Given the description of an element on the screen output the (x, y) to click on. 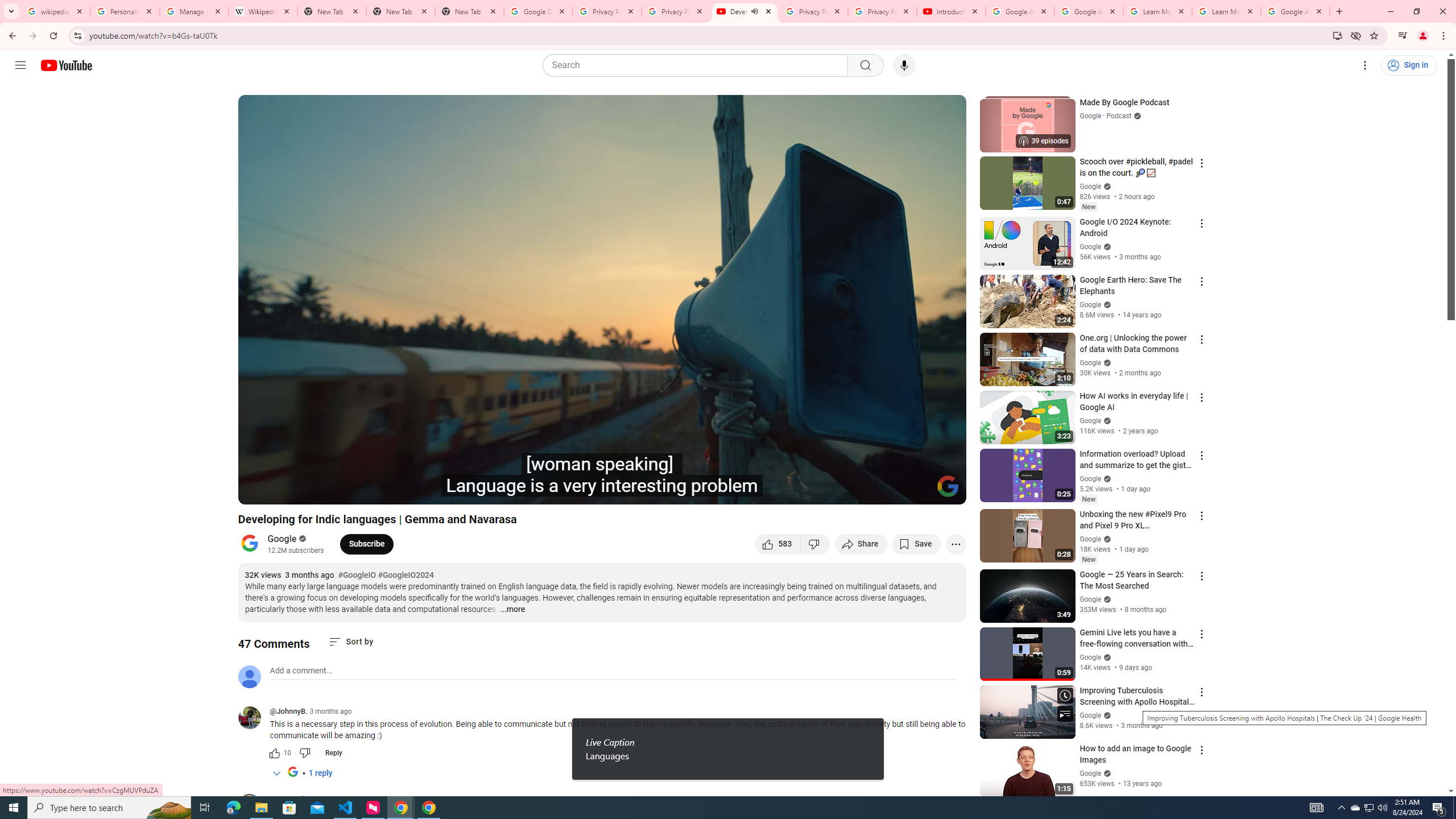
Seek slider (601, 476)
Pause (k) (257, 490)
Reply (333, 752)
